Given the description of an element on the screen output the (x, y) to click on. 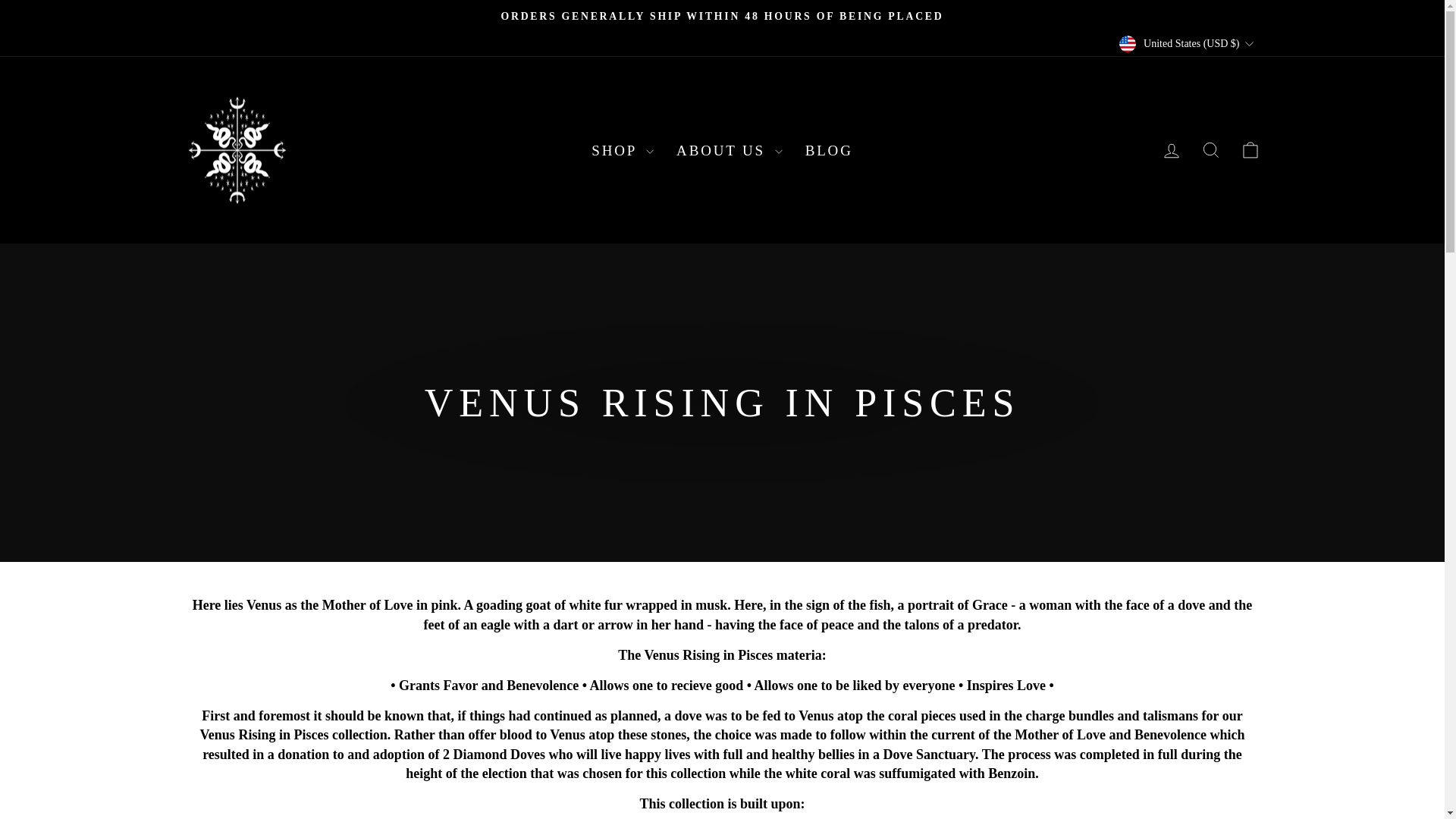
ICON-BAG-MINIMAL (1249, 149)
ACCOUNT (1170, 150)
ICON-SEARCH (1210, 149)
